Given the description of an element on the screen output the (x, y) to click on. 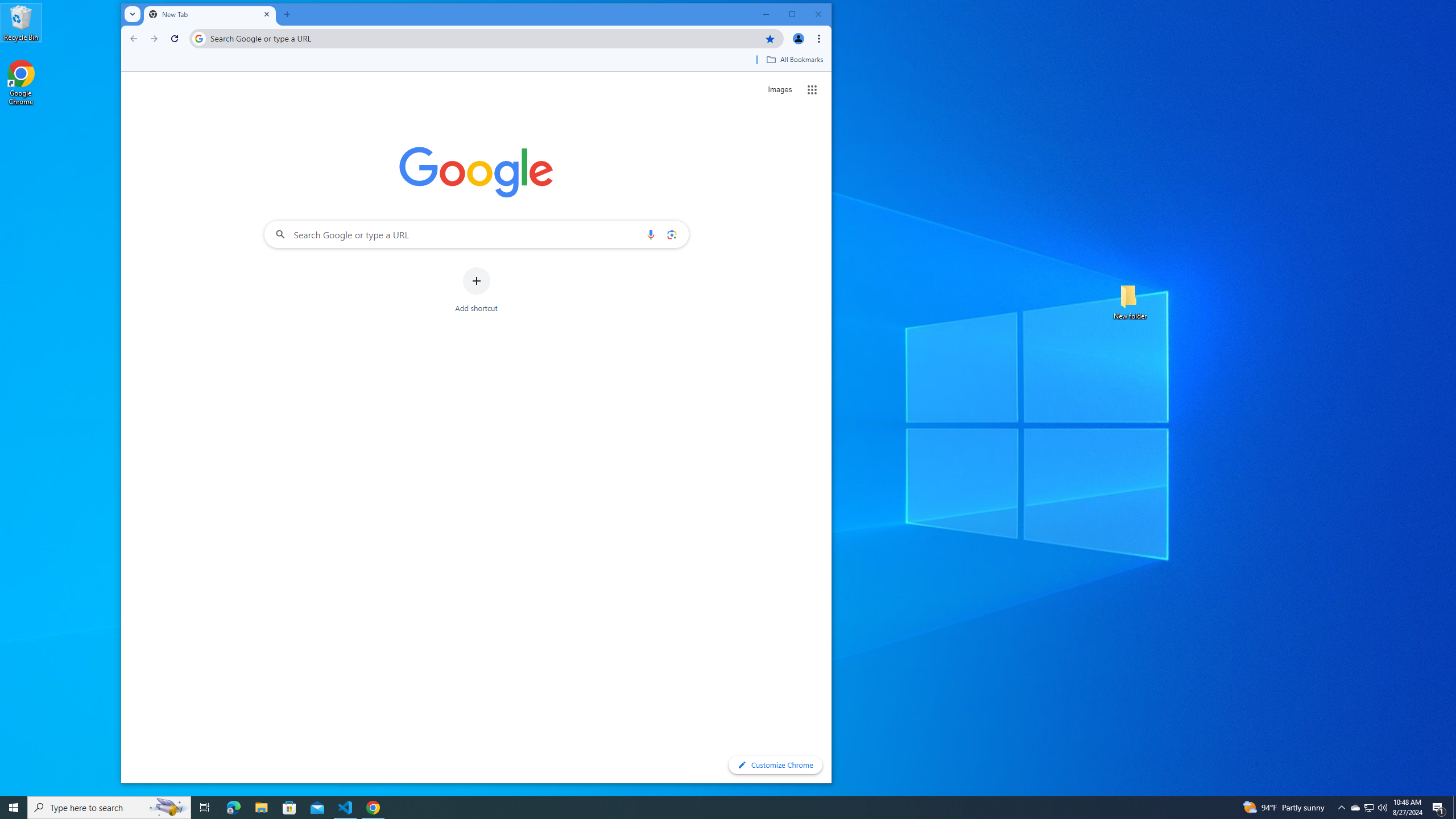
Google Chrome (21, 82)
Recycle Bin (21, 22)
New folder (1130, 301)
